Given the description of an element on the screen output the (x, y) to click on. 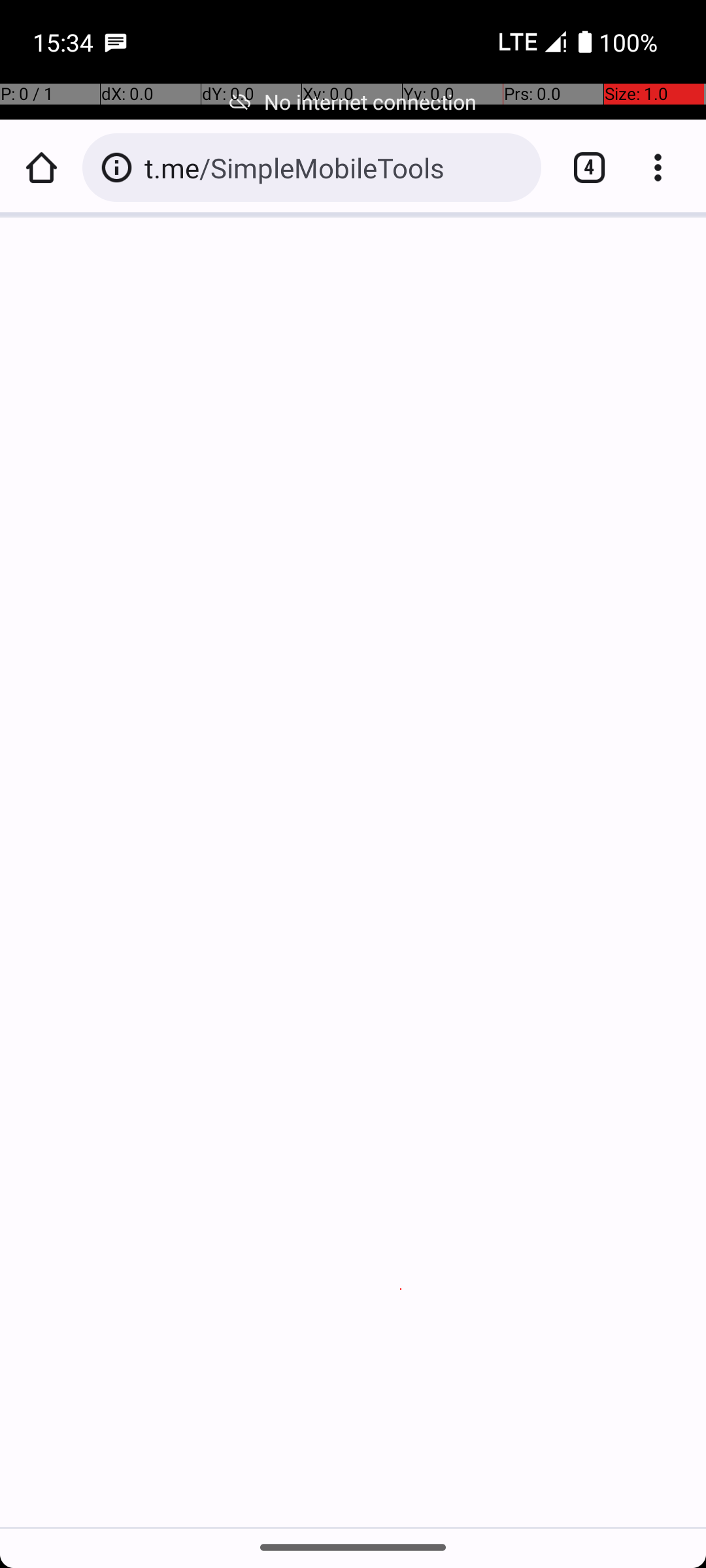
t.me/SimpleMobileTools Element type: android.widget.EditText (335, 167)
